Given the description of an element on the screen output the (x, y) to click on. 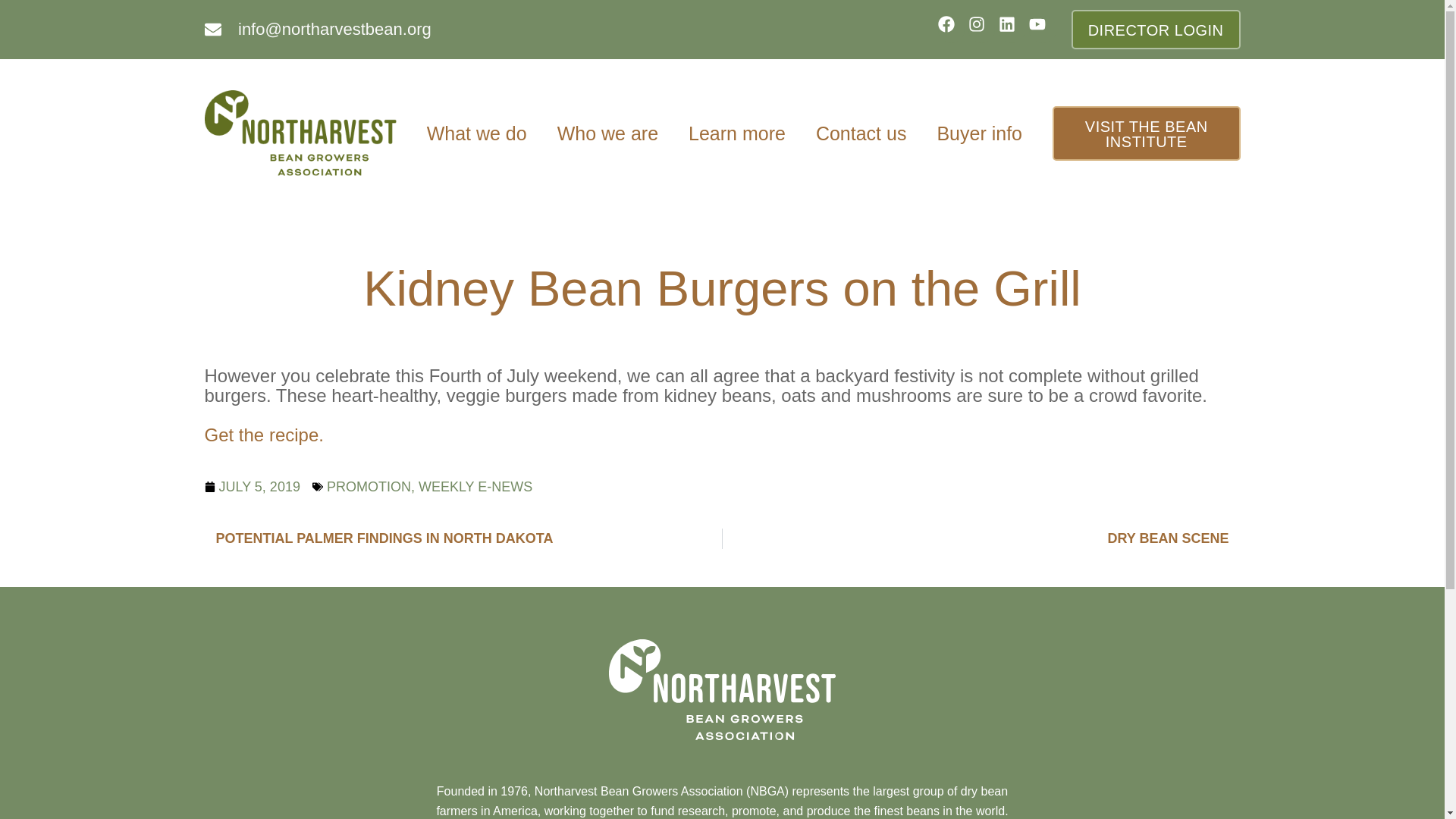
Buyer info (978, 133)
DIRECTOR LOGIN (1155, 29)
Contact us (860, 133)
Learn more (736, 133)
What we do (476, 133)
Logo footer (721, 689)
Who we are (606, 133)
